Given the description of an element on the screen output the (x, y) to click on. 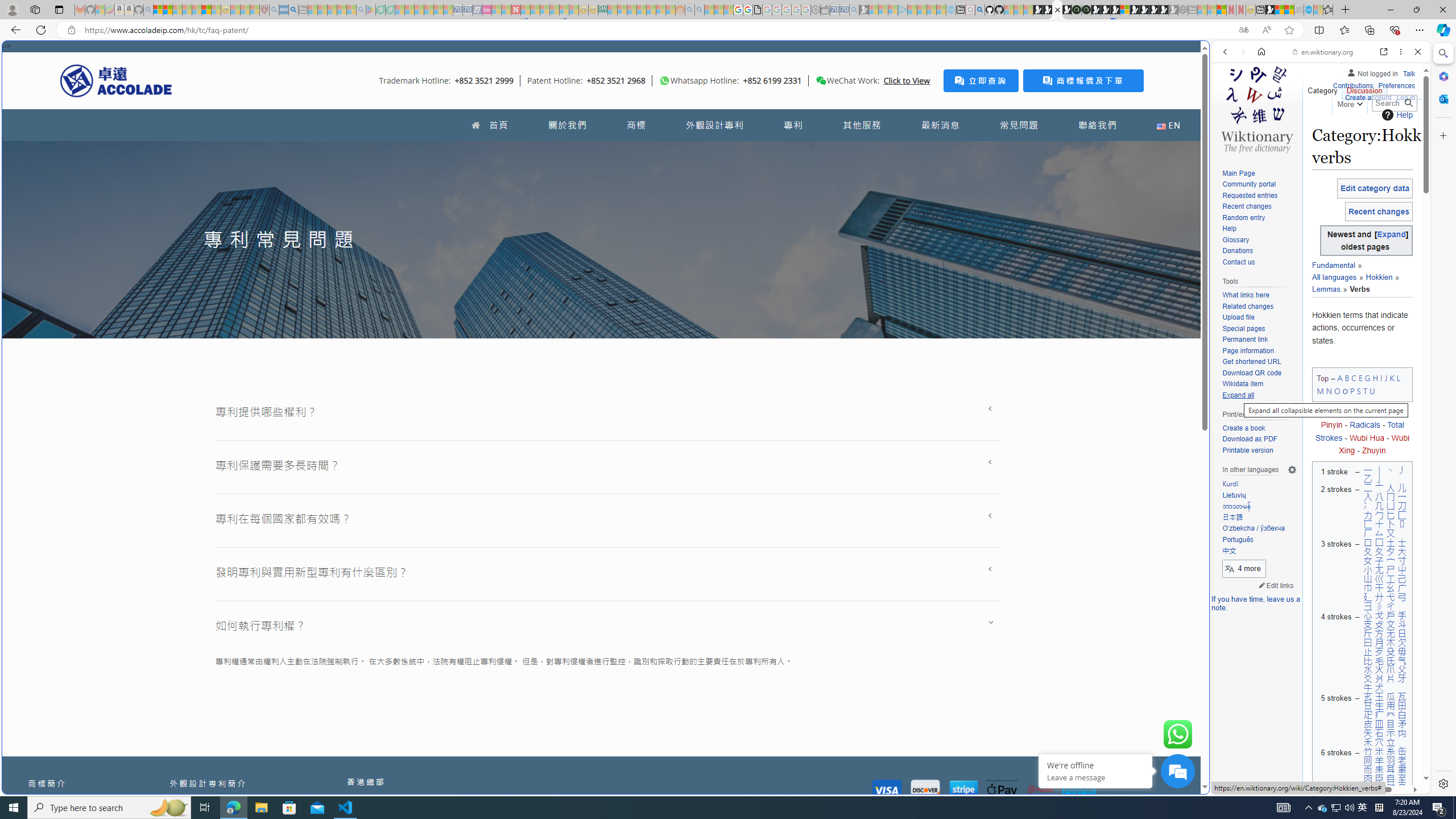
Permanent link (1244, 339)
C (1353, 378)
Expand all (1259, 395)
